Given the description of an element on the screen output the (x, y) to click on. 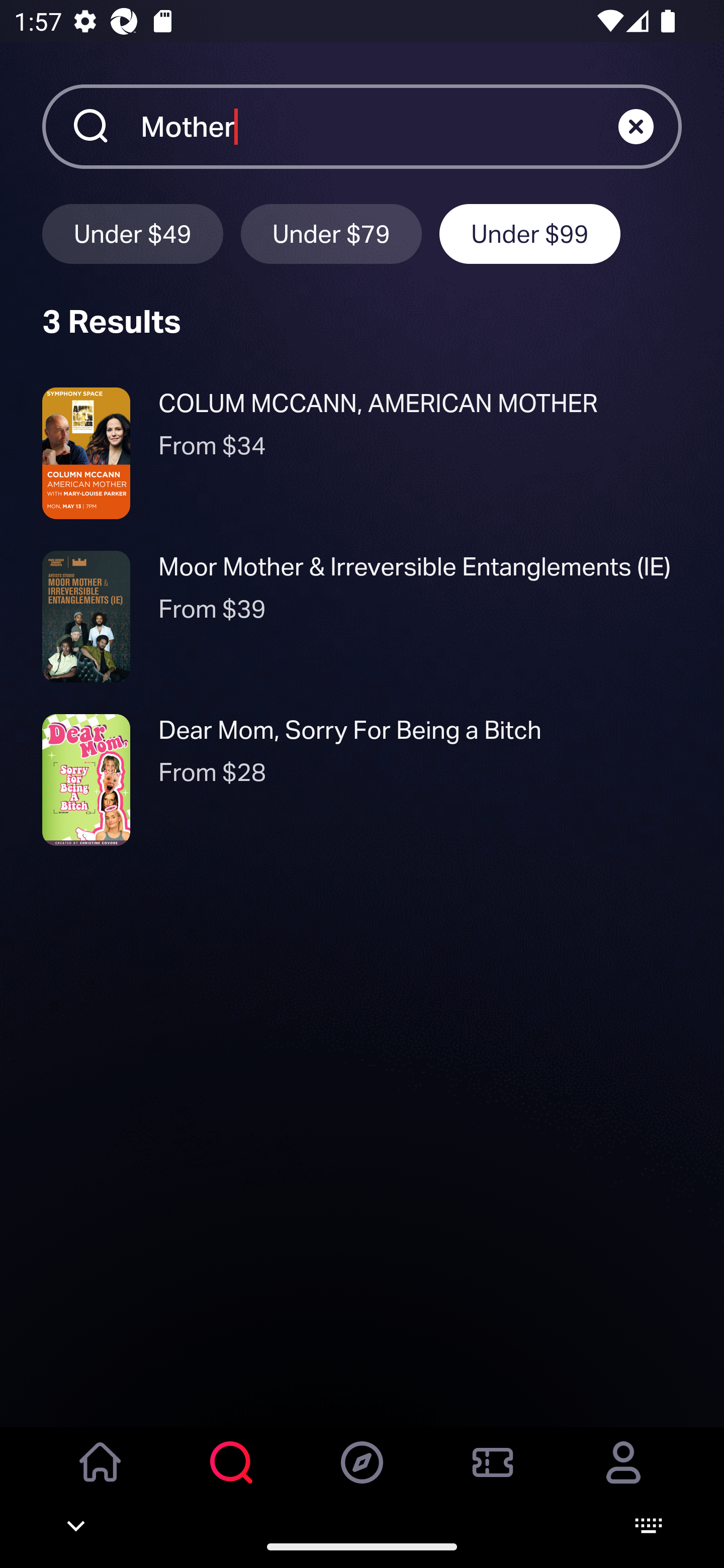
Mother (379, 126)
Under $49 (131, 233)
Under $79 (331, 233)
Under $99 (529, 233)
Home (100, 1475)
Discover (361, 1475)
Orders (492, 1475)
Account (623, 1475)
